Given the description of an element on the screen output the (x, y) to click on. 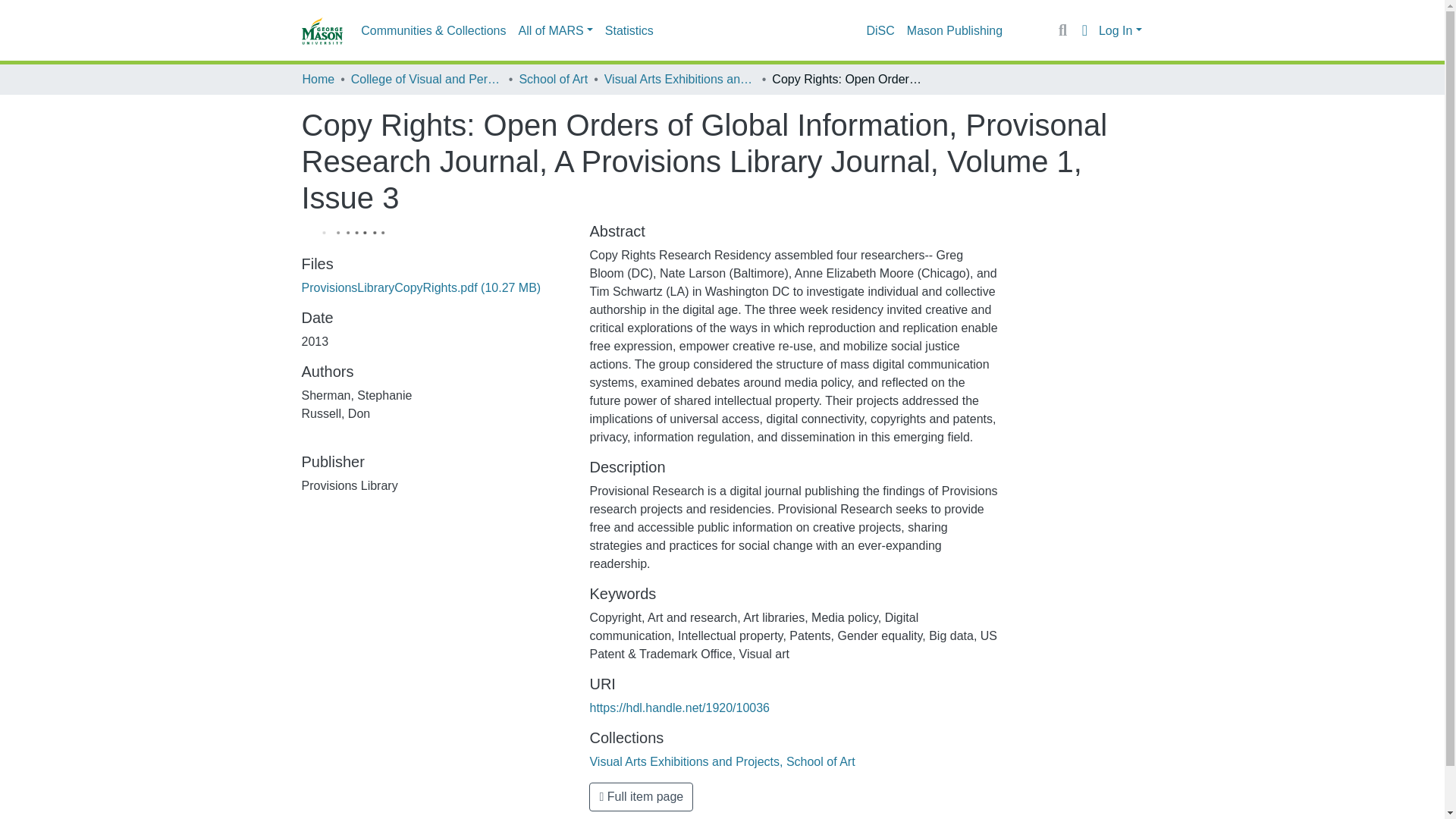
Statistics (628, 30)
Statistics (628, 30)
College of Visual and Performing Arts (426, 79)
School of Art (553, 79)
DiSC (879, 30)
Home (317, 79)
Mason Publishing (955, 30)
Search (1061, 30)
Full item page (641, 796)
Visual Arts Exhibitions and Projects, School of Art (679, 79)
Log In (1119, 30)
All of MARS (555, 30)
Visual Arts Exhibitions and Projects, School of Art (721, 761)
Language switch (1084, 30)
